Given the description of an element on the screen output the (x, y) to click on. 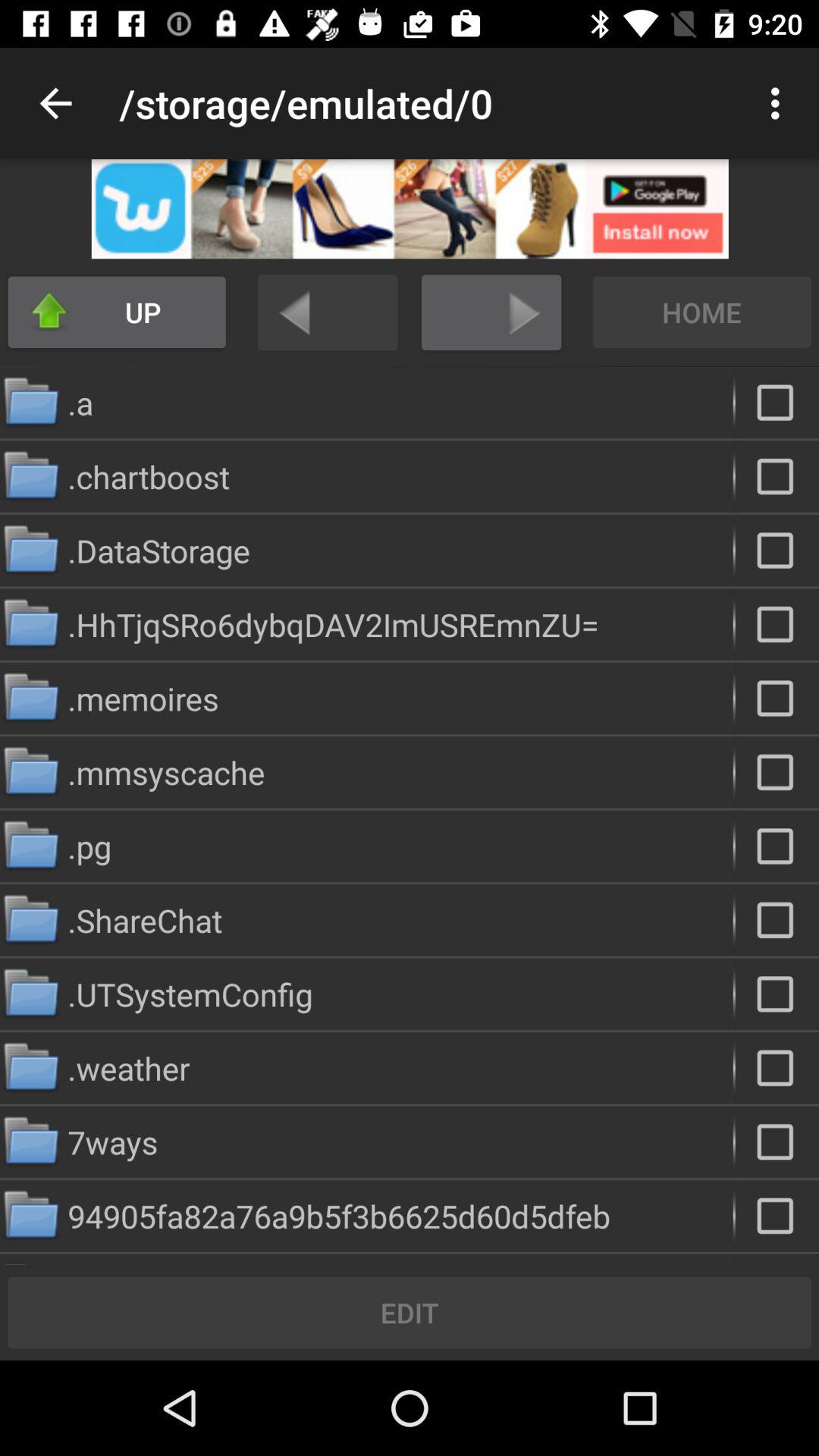
select data storage (777, 550)
